Given the description of an element on the screen output the (x, y) to click on. 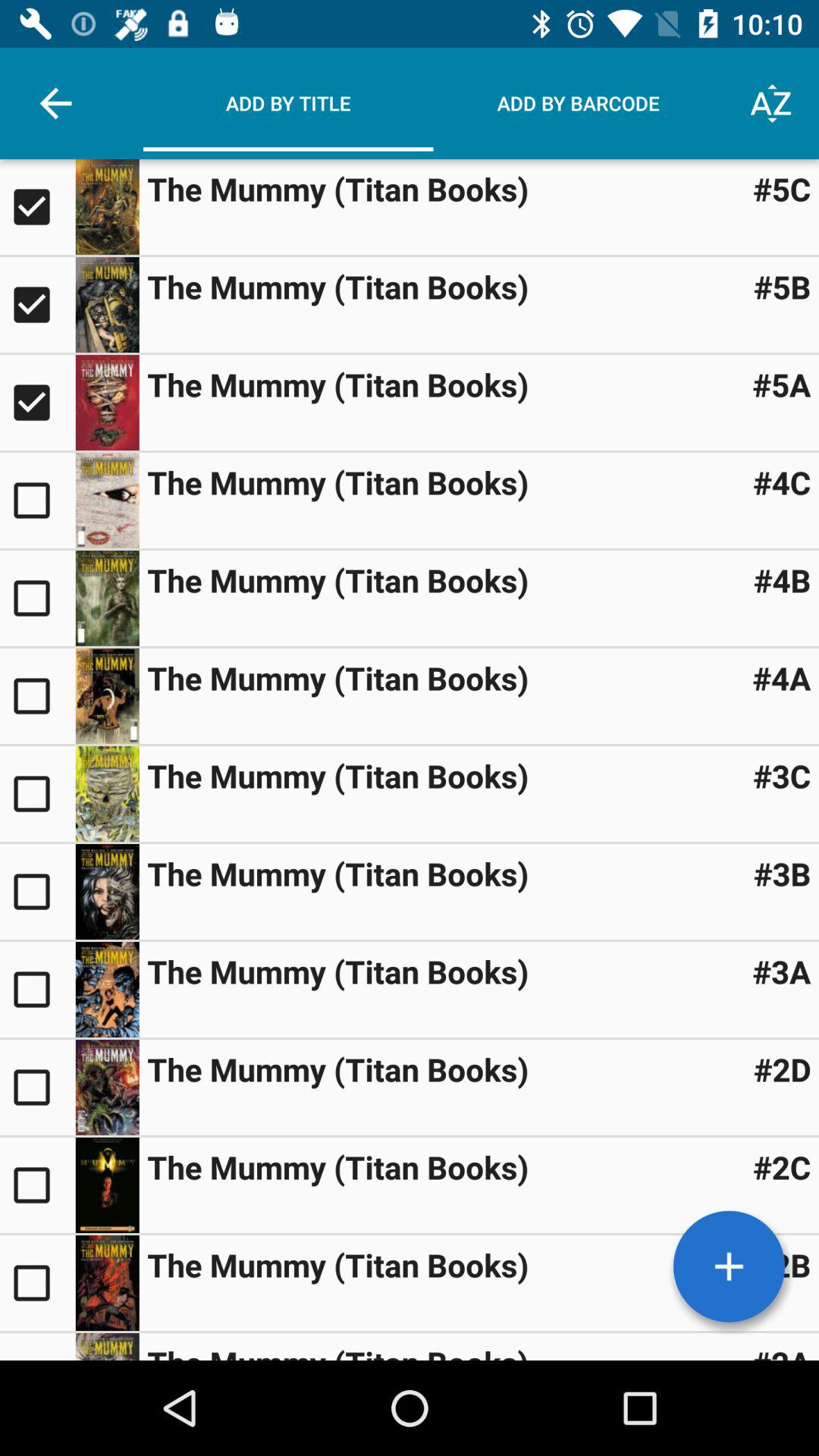
turn on the icon above the #4b (782, 481)
